Given the description of an element on the screen output the (x, y) to click on. 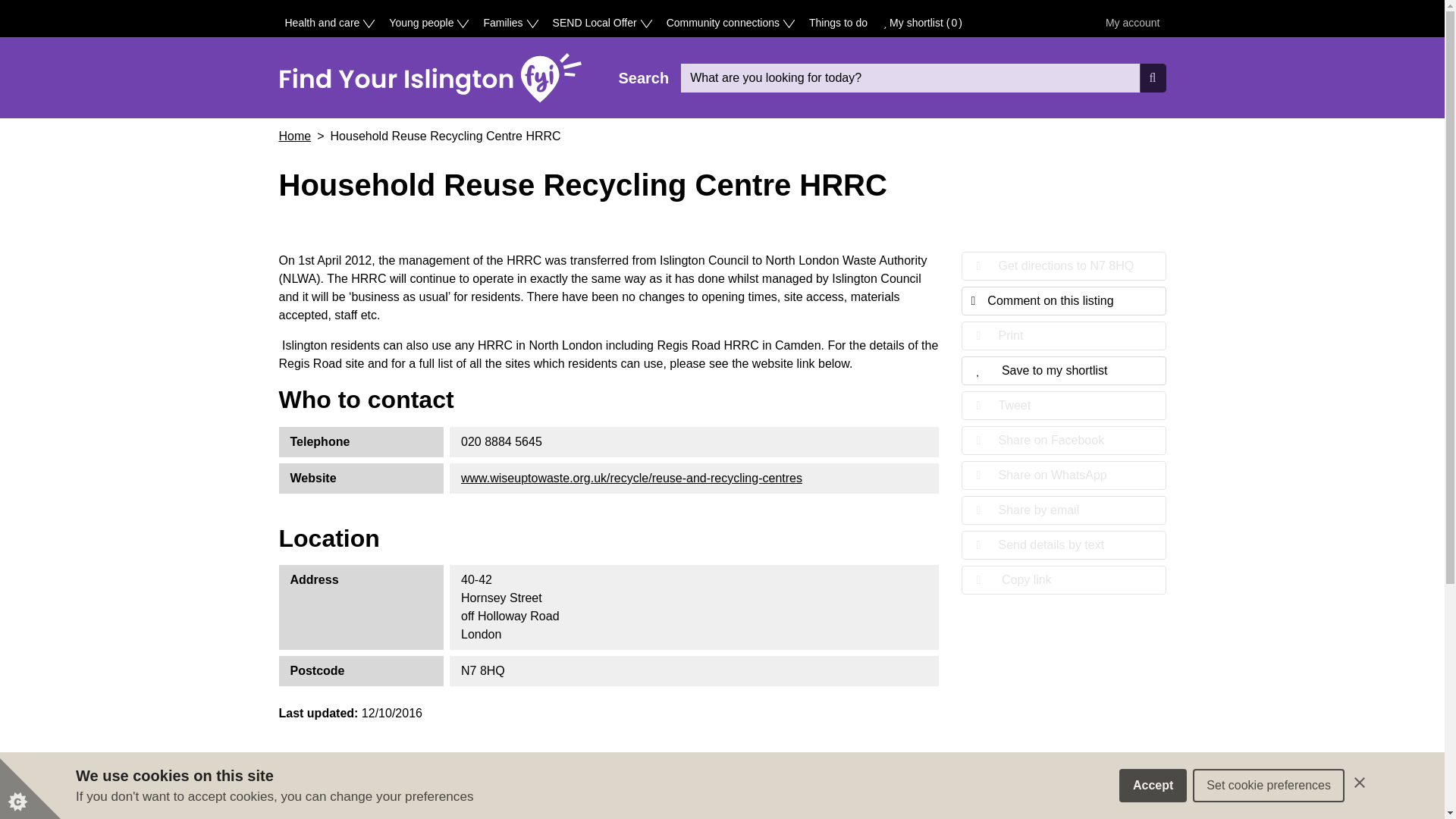
Quick exit (1344, 784)
SEND Local Offer (601, 20)
Cookie Control Icon (30, 788)
Home (430, 76)
Young people (427, 20)
Families (509, 20)
Community connections (730, 20)
Find Your Islington (430, 77)
Health and care (329, 20)
